Given the description of an element on the screen output the (x, y) to click on. 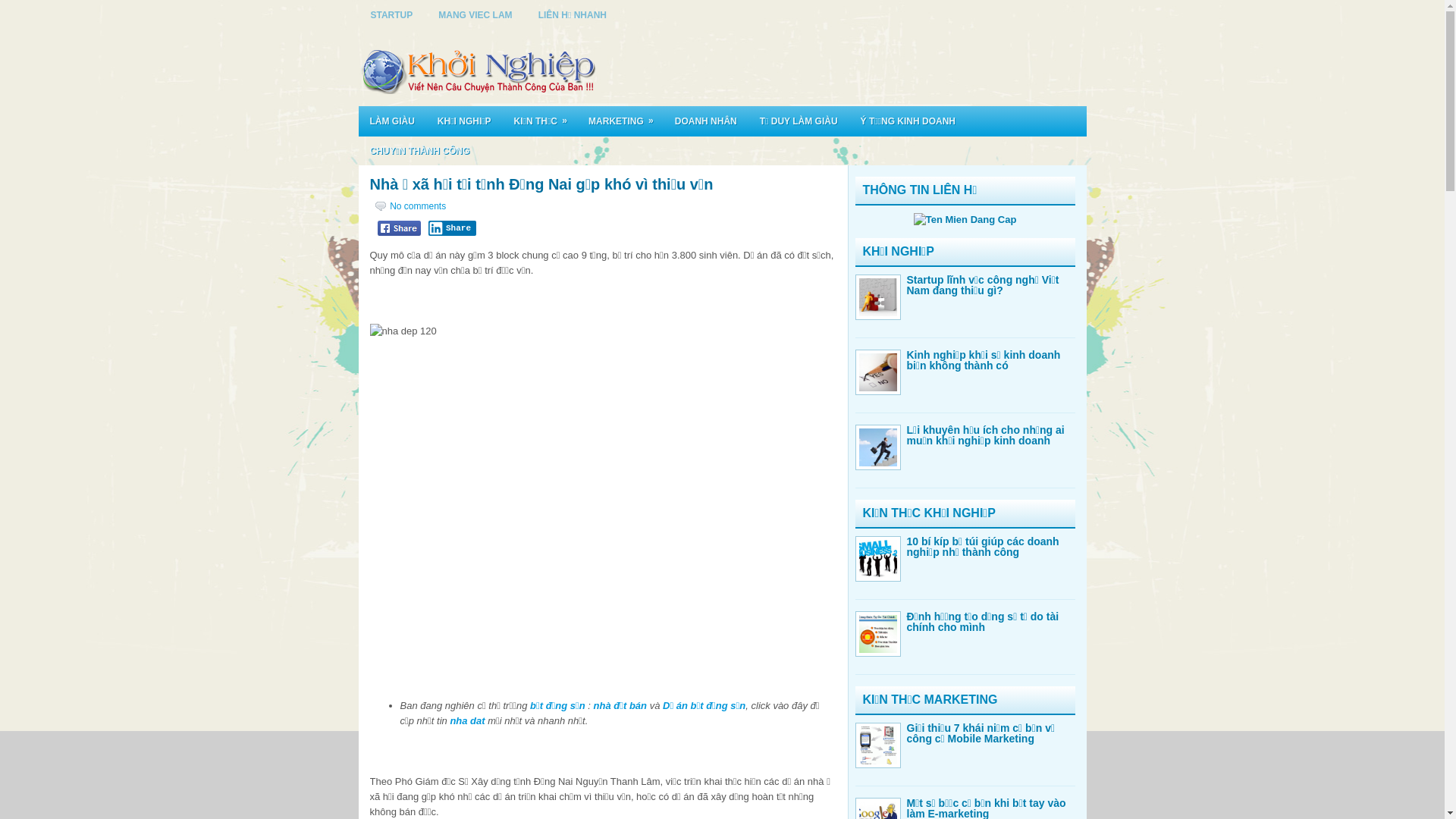
Share Element type: text (451, 227)
No comments Element type: text (417, 205)
STARTUP Element type: text (391, 15)
nha dat Element type: text (466, 720)
MANG VIEC LAM Element type: text (474, 15)
